Given the description of an element on the screen output the (x, y) to click on. 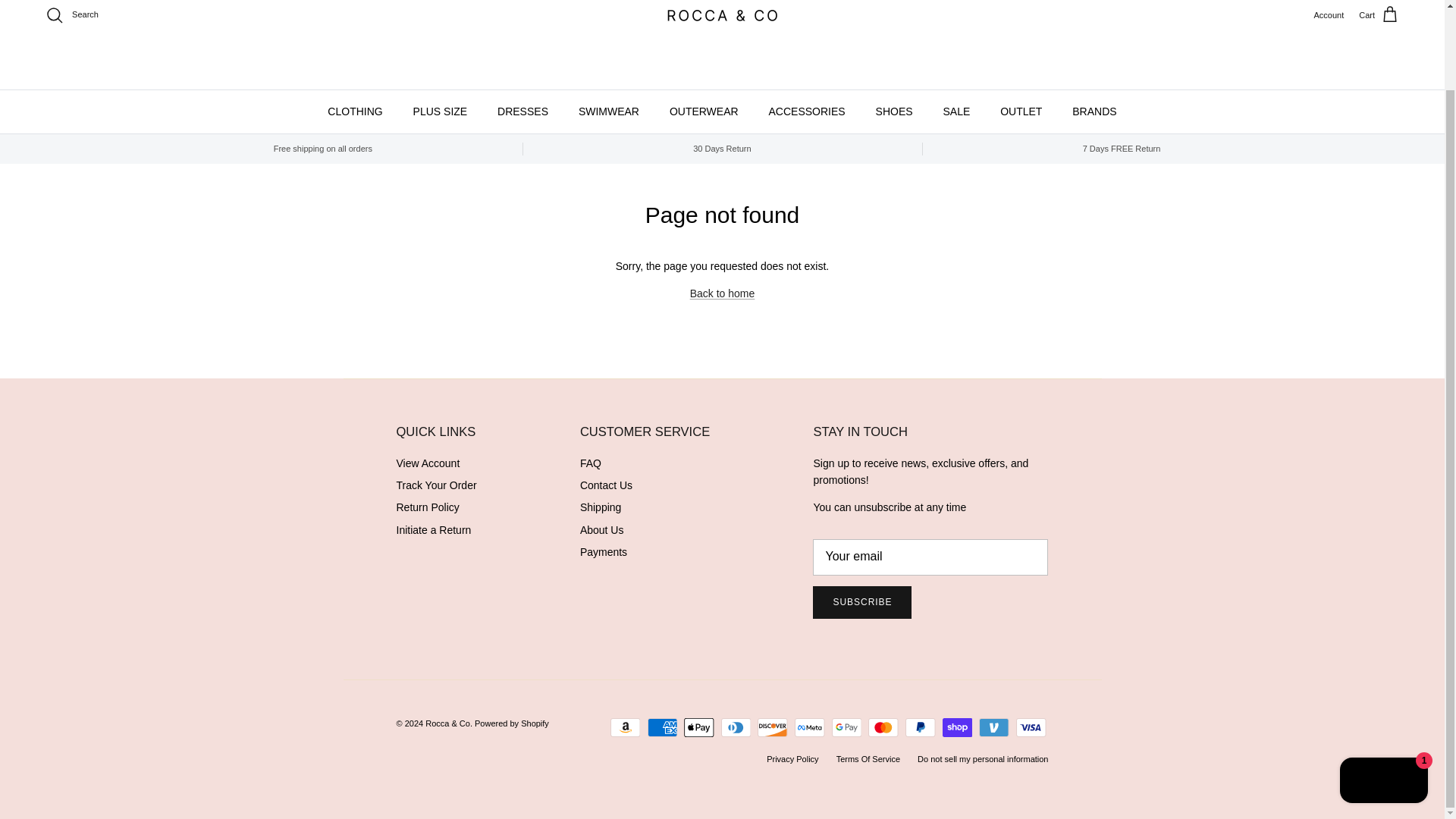
CLOTHING (355, 111)
Mastercard (882, 727)
Google Pay (846, 727)
Cart (1378, 14)
Visa (1031, 727)
Apple Pay (698, 727)
Discover (772, 727)
Diners Club (735, 727)
PayPal (919, 727)
Meta Pay (809, 727)
Shop Pay (957, 727)
Shopify online store chat (1383, 691)
American Express (662, 727)
Account (1328, 15)
Search (72, 14)
